Given the description of an element on the screen output the (x, y) to click on. 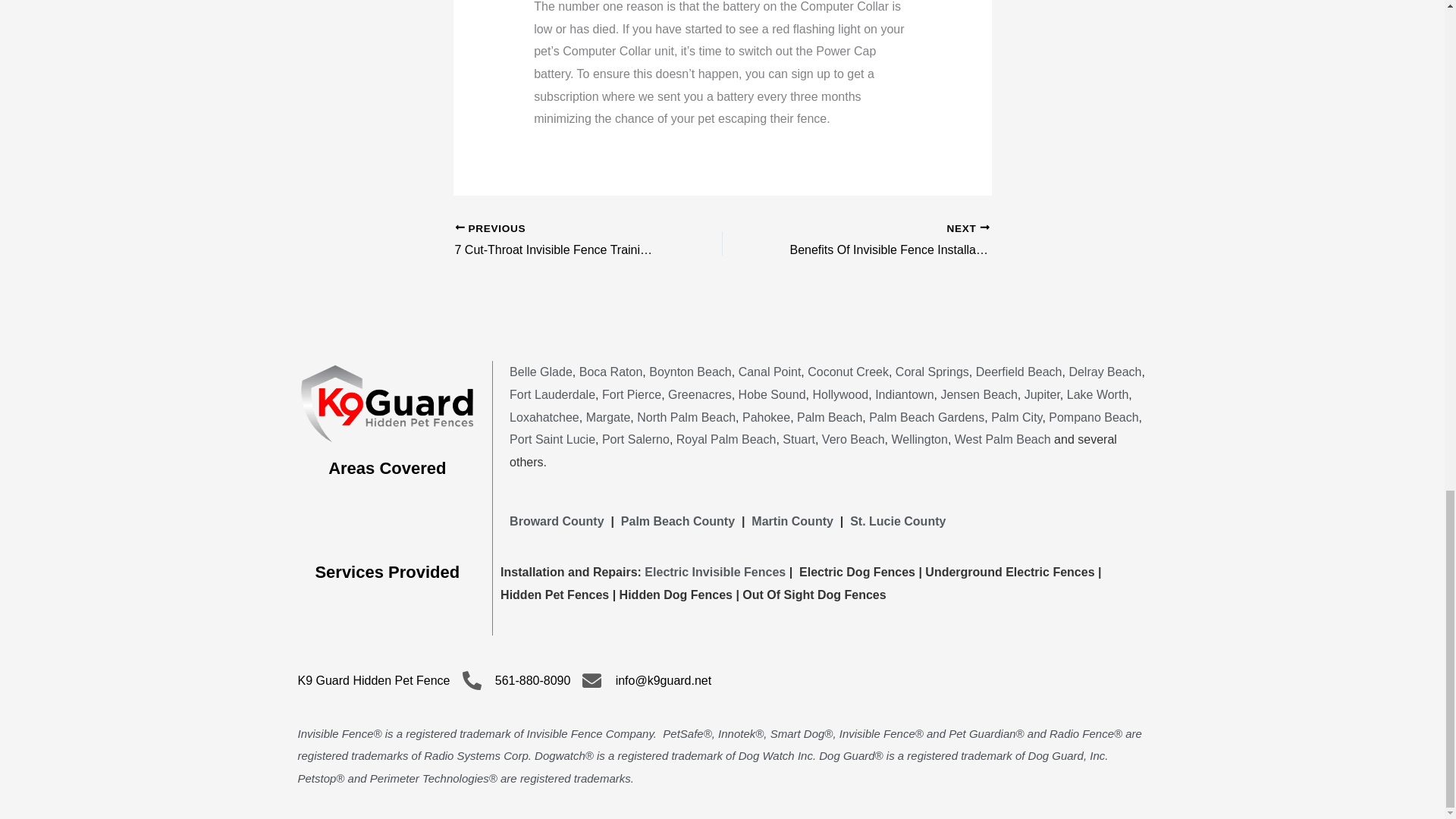
Boynton Beach (690, 371)
Boca Raton (611, 371)
Deerfield Beach (1018, 371)
Belle Glade (540, 371)
Coconut Creek (848, 371)
Benefits Of Invisible Fence Installation (882, 241)
7 Cut-Throat Invisible Fence Training Ways That Never Fails (561, 241)
Canal Point (882, 241)
Coral Springs (770, 371)
